Given the description of an element on the screen output the (x, y) to click on. 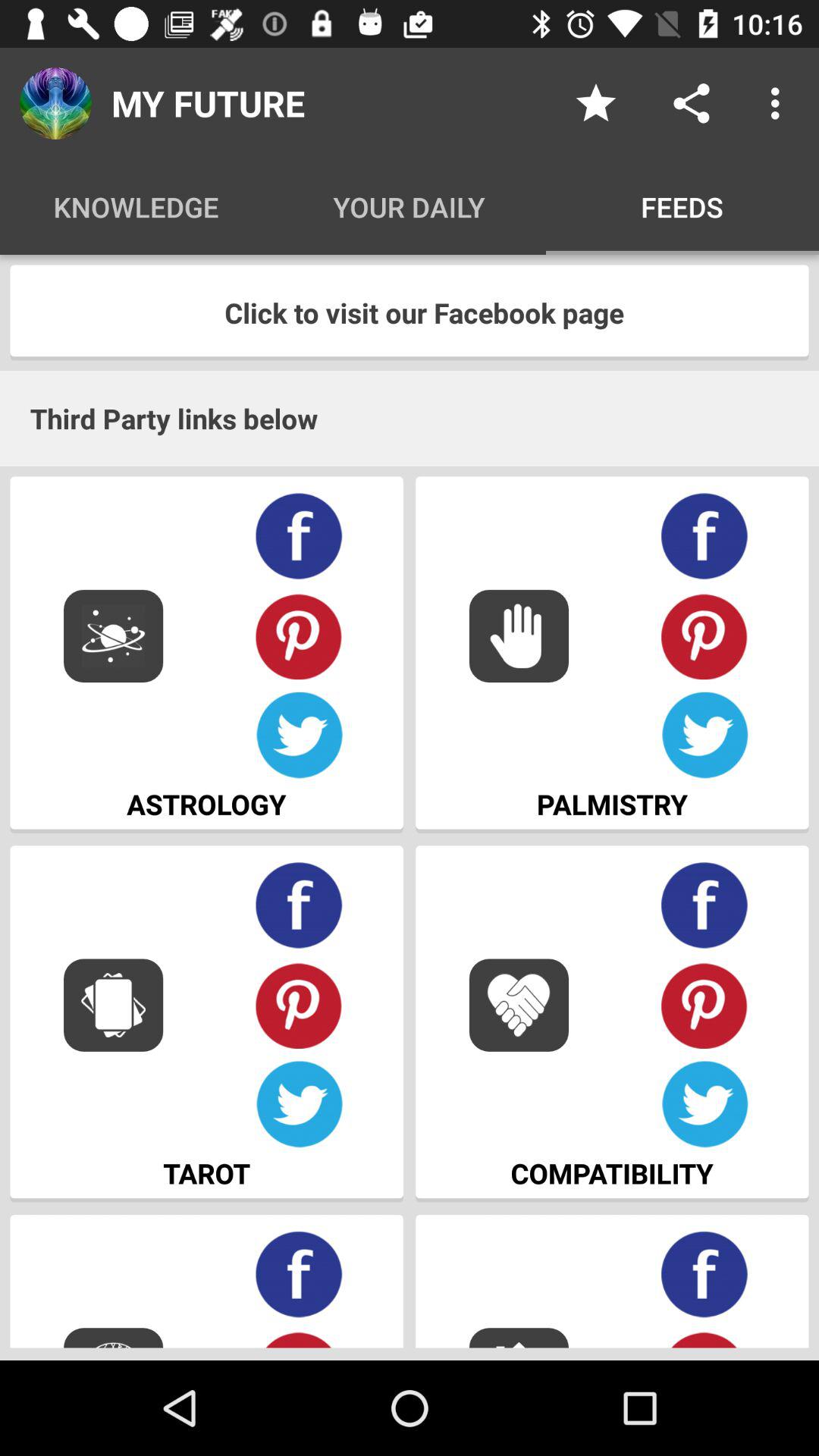
button to access facebook (704, 905)
